Given the description of an element on the screen output the (x, y) to click on. 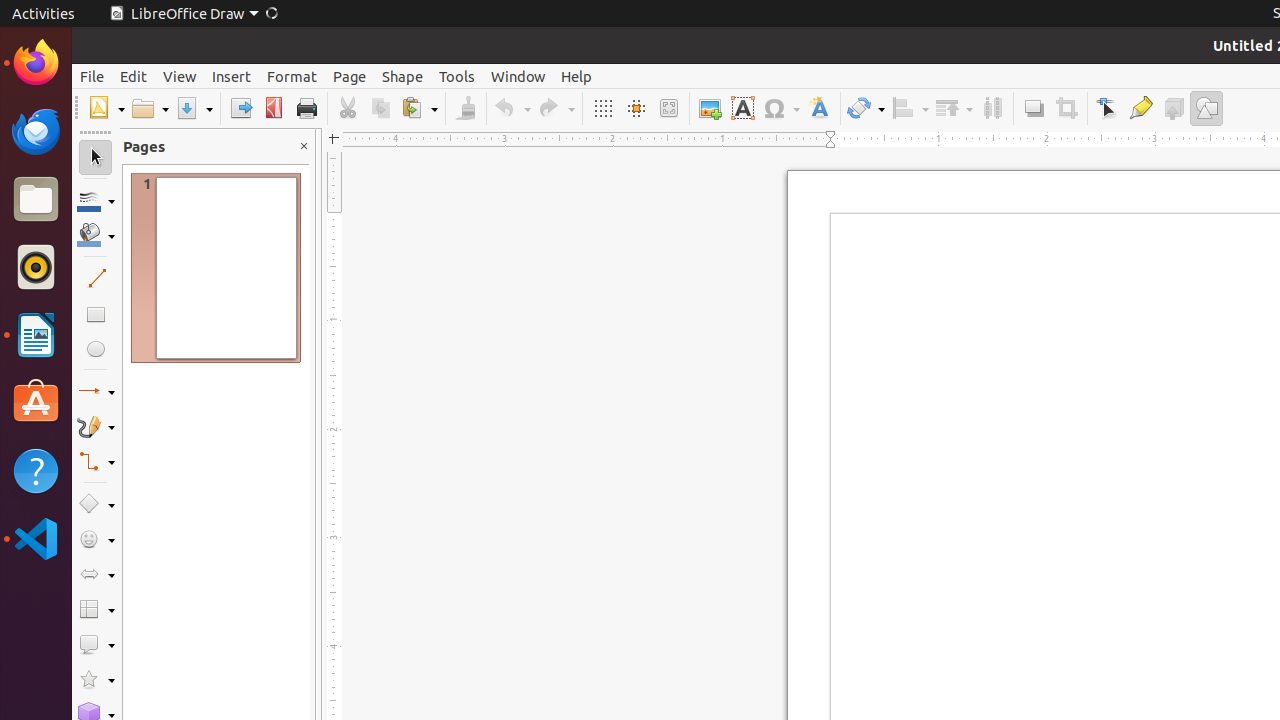
LibreOffice Draw Element type: menu (193, 13)
Window Element type: menu (518, 76)
Cut Element type: push-button (347, 108)
Print Element type: push-button (306, 108)
